Given the description of an element on the screen output the (x, y) to click on. 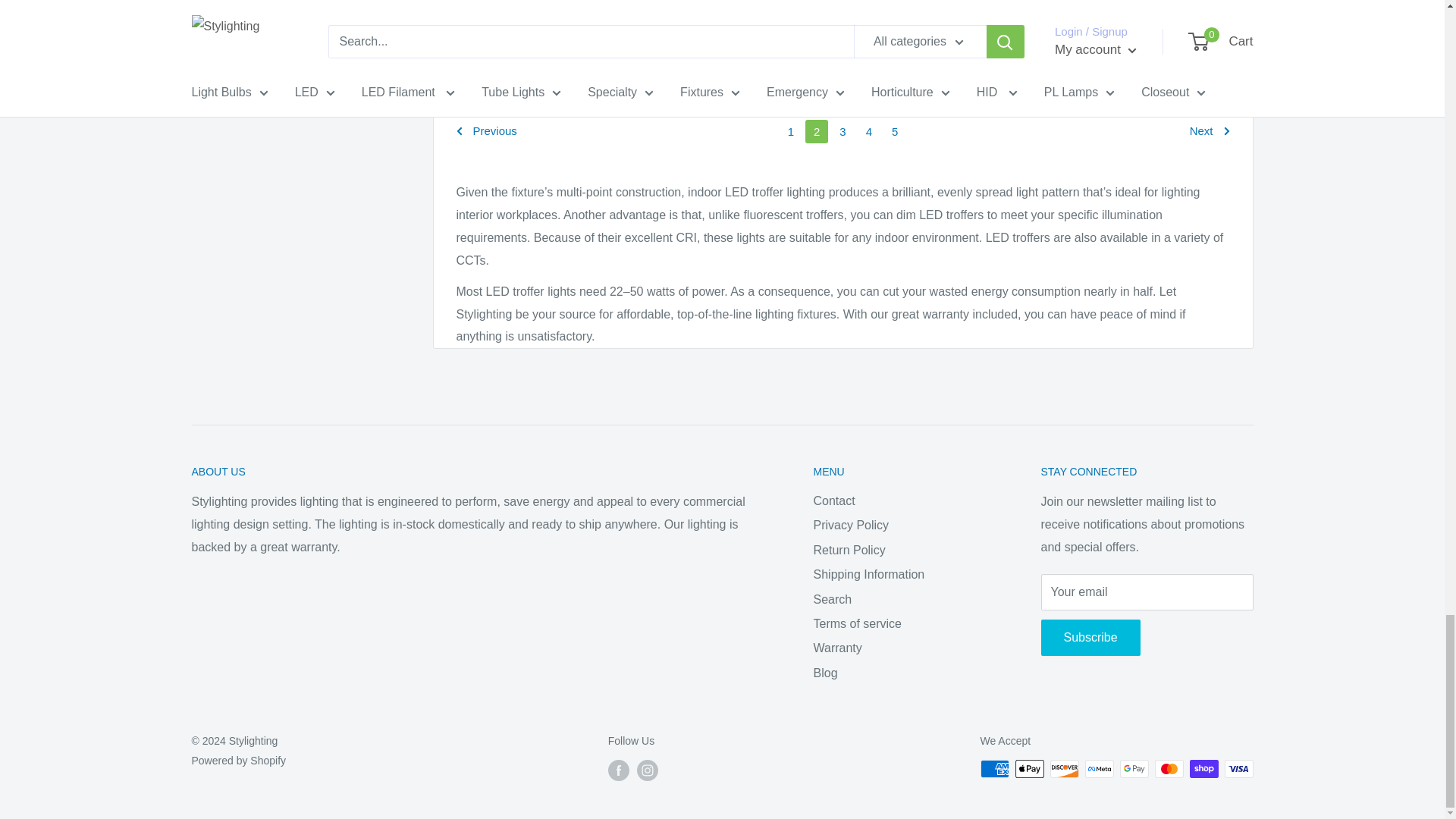
Navigate to page 3 (842, 131)
Previous (486, 131)
Navigate to page 5 (894, 131)
Navigate to page 1 (790, 131)
Next (1209, 131)
Navigate to page 4 (868, 131)
